Given the description of an element on the screen output the (x, y) to click on. 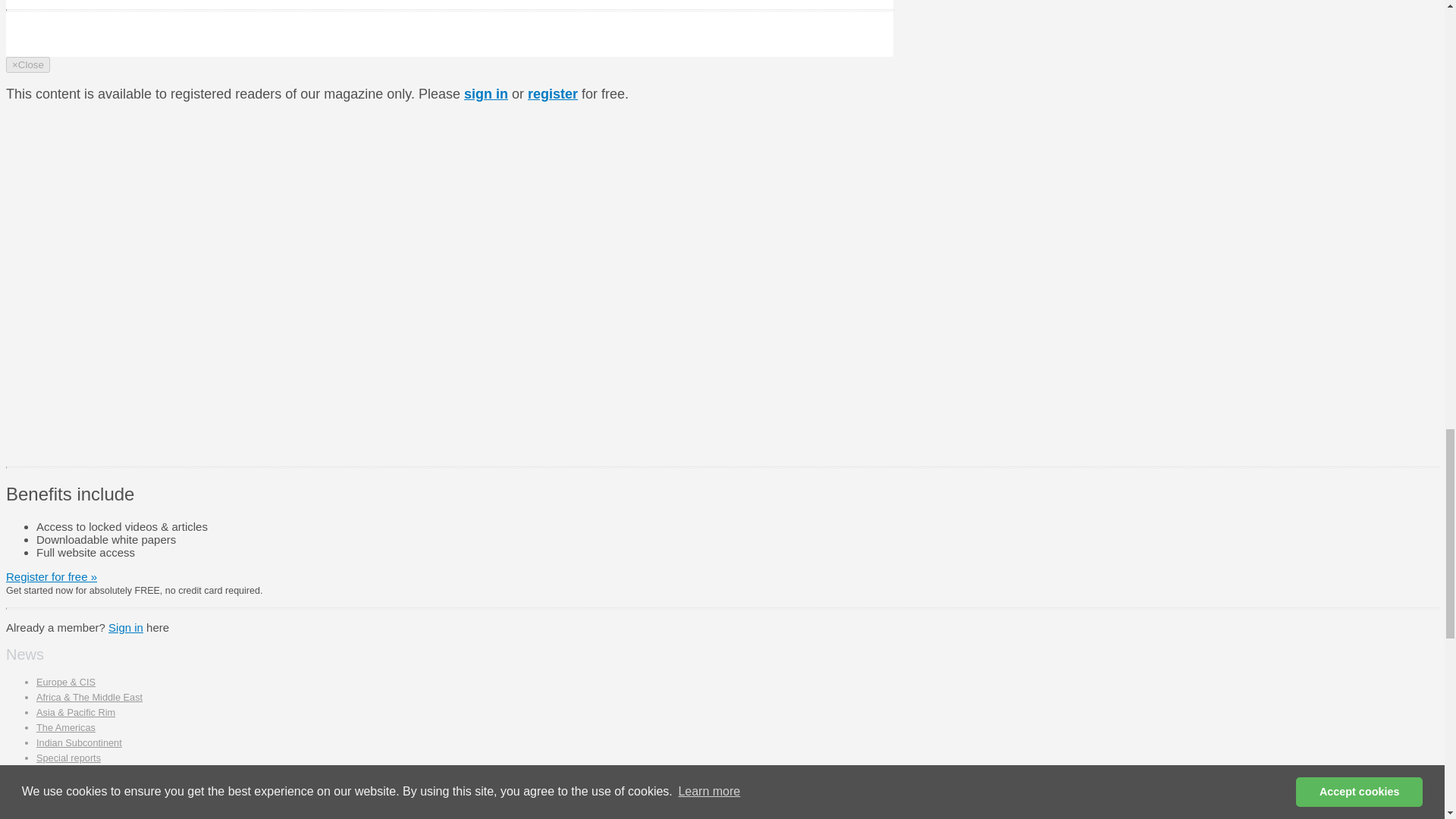
sign in (486, 93)
register (552, 93)
Sign in (124, 626)
3rd party ad content (774, 147)
3rd party ad content (774, 356)
